Given the description of an element on the screen output the (x, y) to click on. 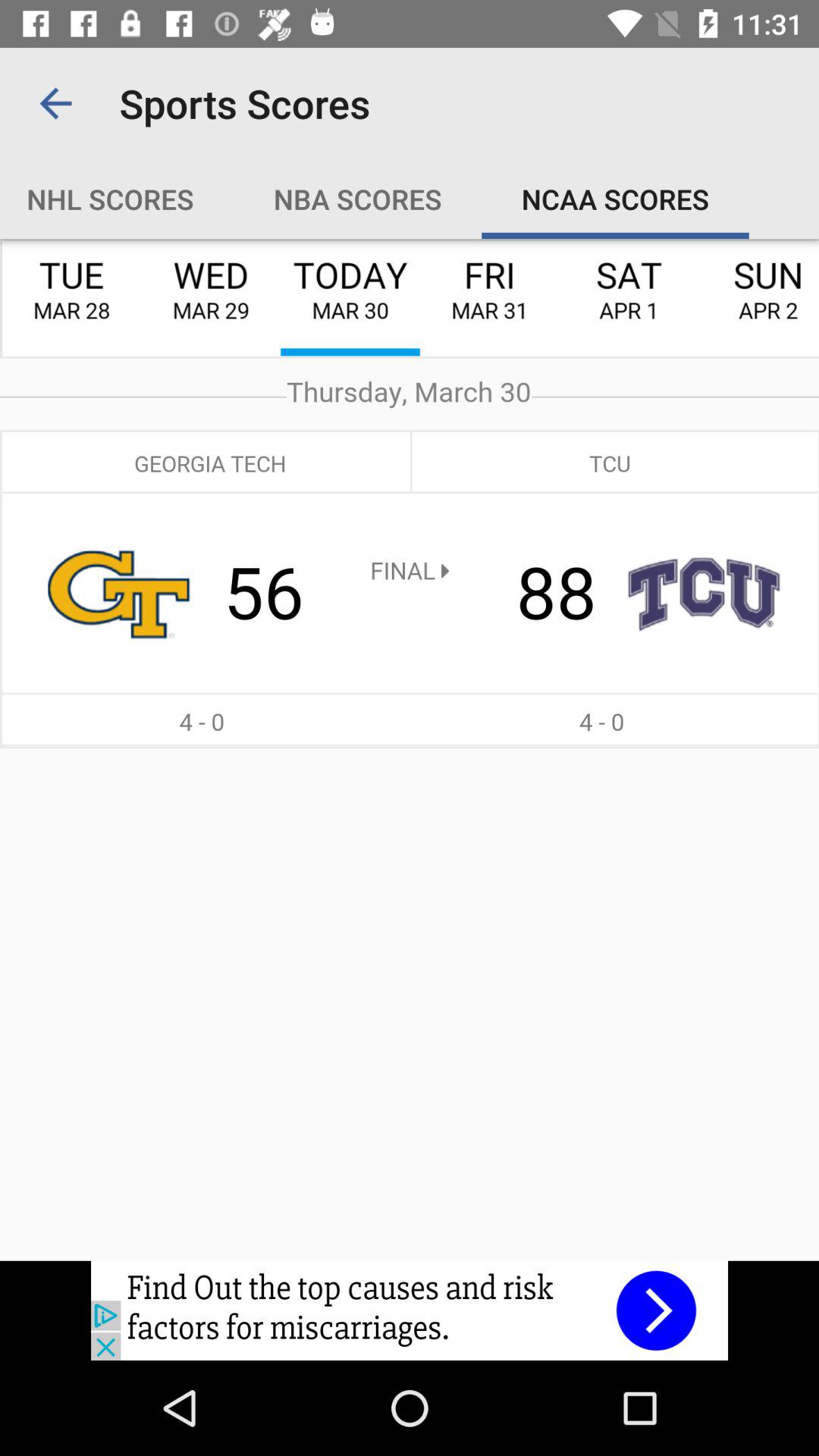
advertisement banner (409, 1310)
